Given the description of an element on the screen output the (x, y) to click on. 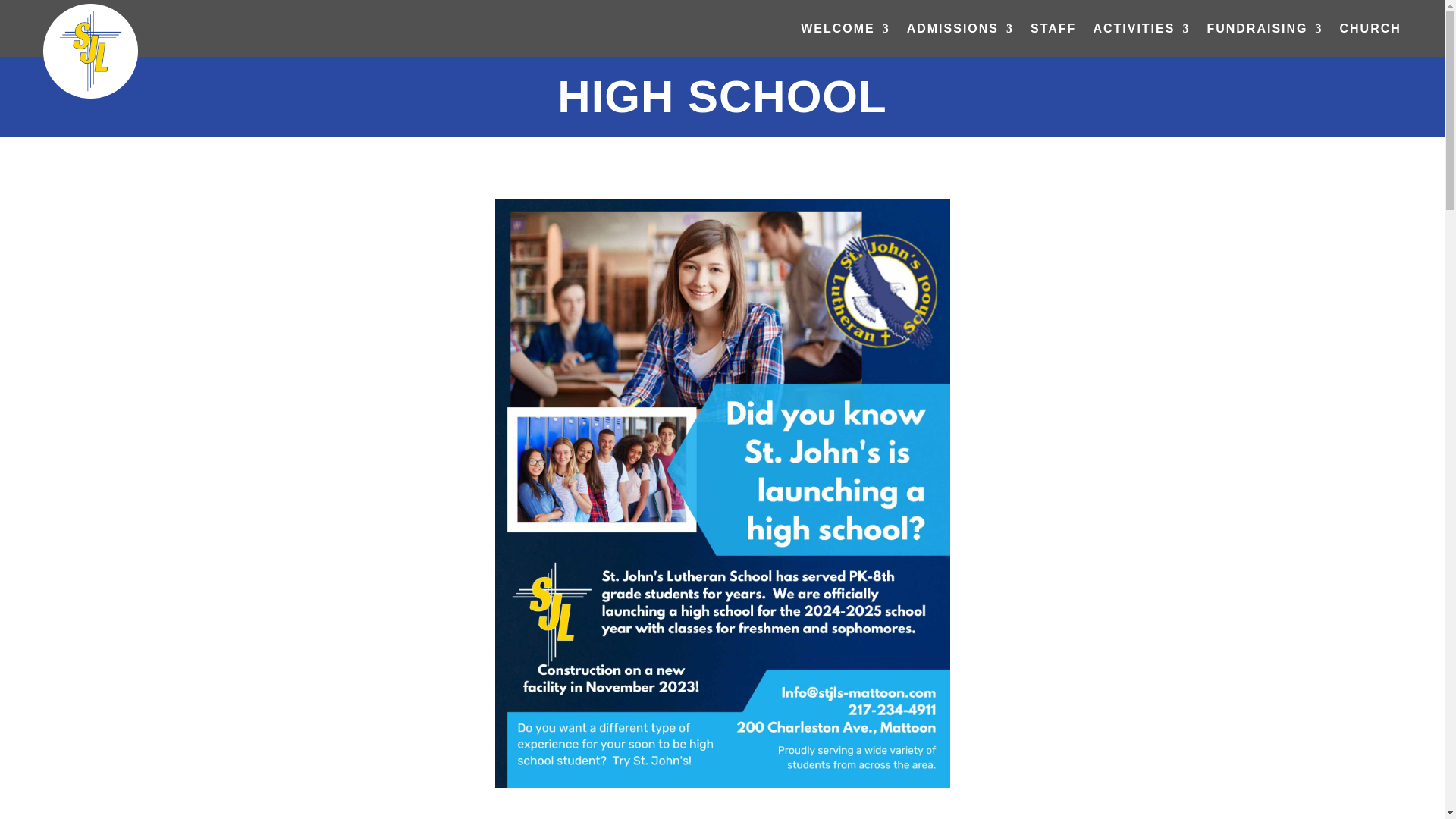
ADMISSIONS (960, 30)
CHURCH (1369, 30)
WELCOME (844, 30)
ACTIVITIES (1141, 30)
SJL-Icon (90, 51)
FUNDRAISING (1264, 30)
STAFF (1052, 30)
